Given the description of an element on the screen output the (x, y) to click on. 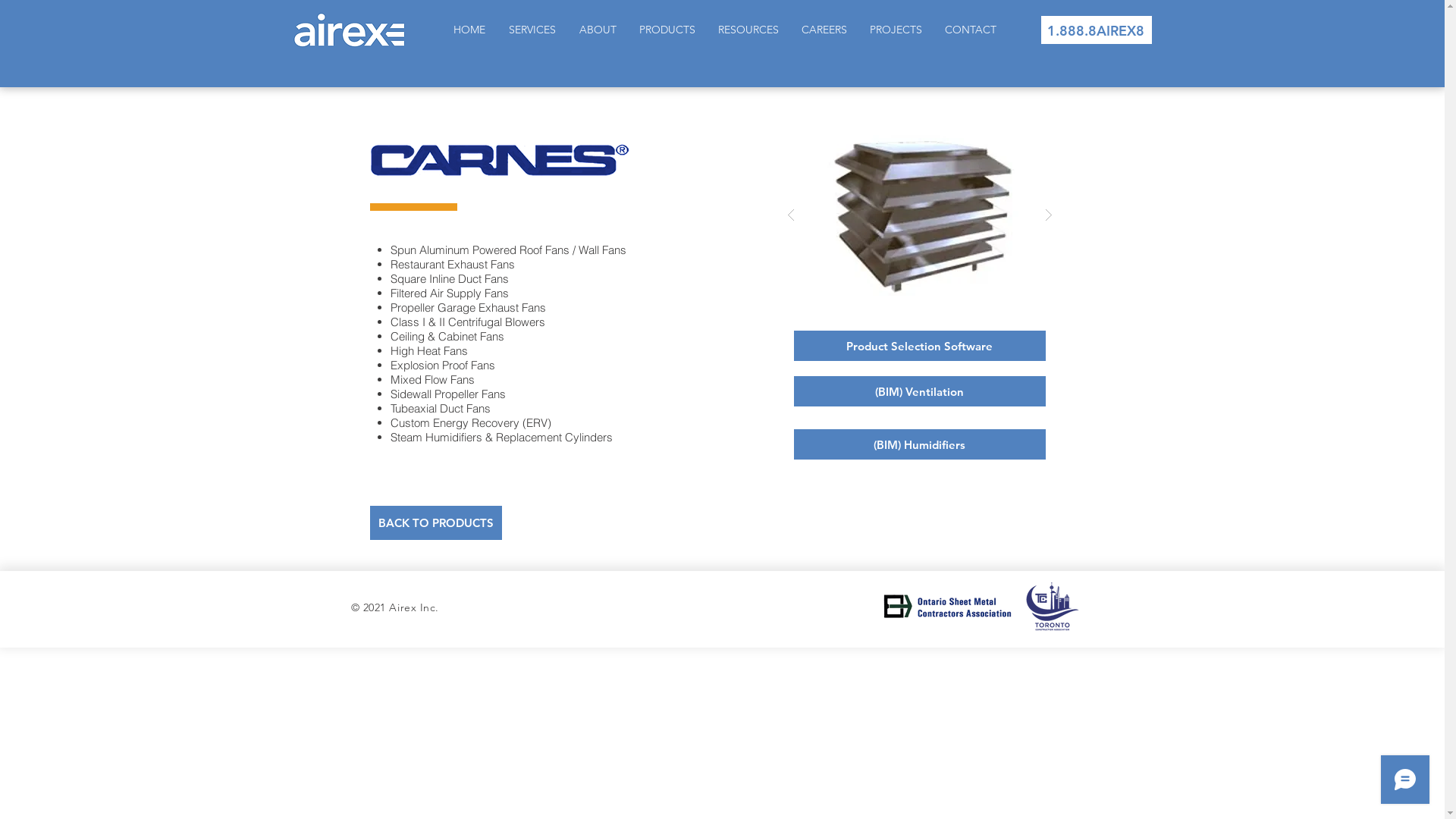
SERVICES Element type: text (532, 29)
CAREERS Element type: text (824, 29)
1.888.8AIREX8 Element type: text (1094, 30)
HOME Element type: text (468, 29)
BACK TO PRODUCTS Element type: text (436, 522)
PRODUCTS Element type: text (666, 29)
CONTACT Element type: text (969, 29)
Product Selection Software Element type: text (918, 345)
PROJECTS Element type: text (895, 29)
ABOUT Element type: text (597, 29)
(BIM) Humidifiers Element type: text (918, 444)
(BIM) Ventilation Element type: text (918, 391)
